Given the description of an element on the screen output the (x, y) to click on. 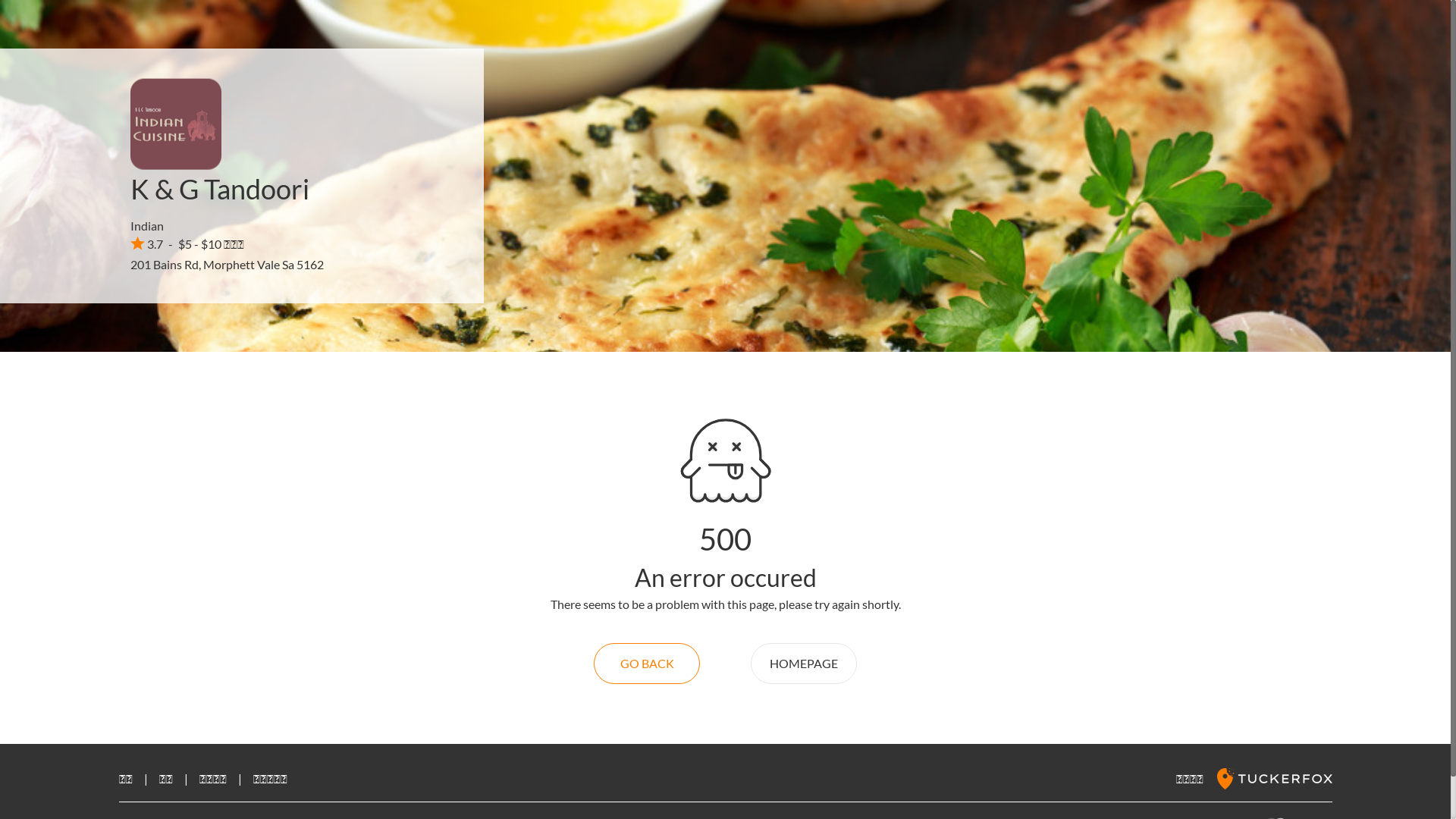
3.7 Element type: text (146, 243)
GO BACK Element type: text (646, 663)
HOMEPAGE Element type: text (803, 663)
K & G Tandoori Element type: text (219, 188)
